Given the description of an element on the screen output the (x, y) to click on. 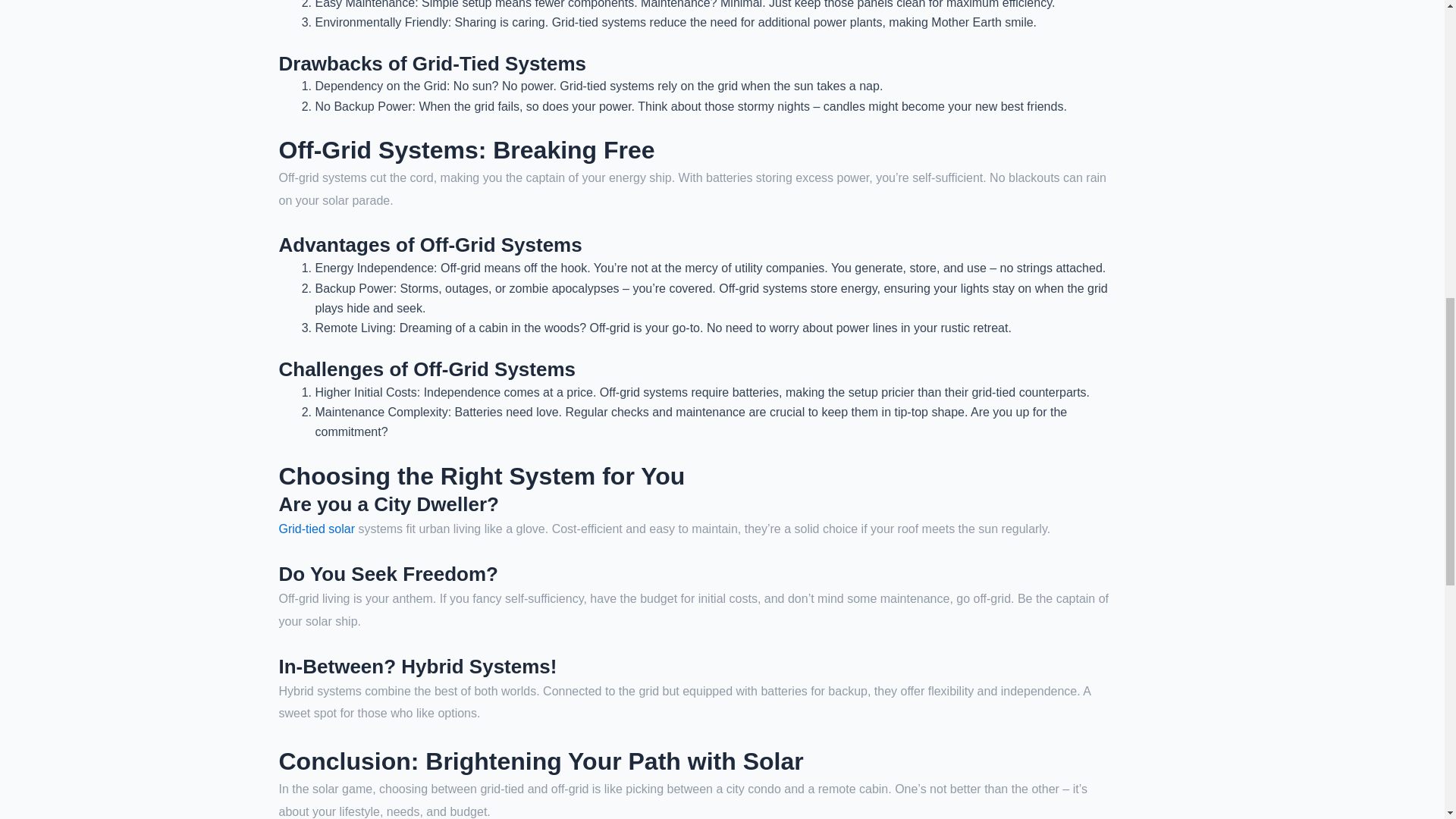
Grid-tied solar (317, 528)
